Given the description of an element on the screen output the (x, y) to click on. 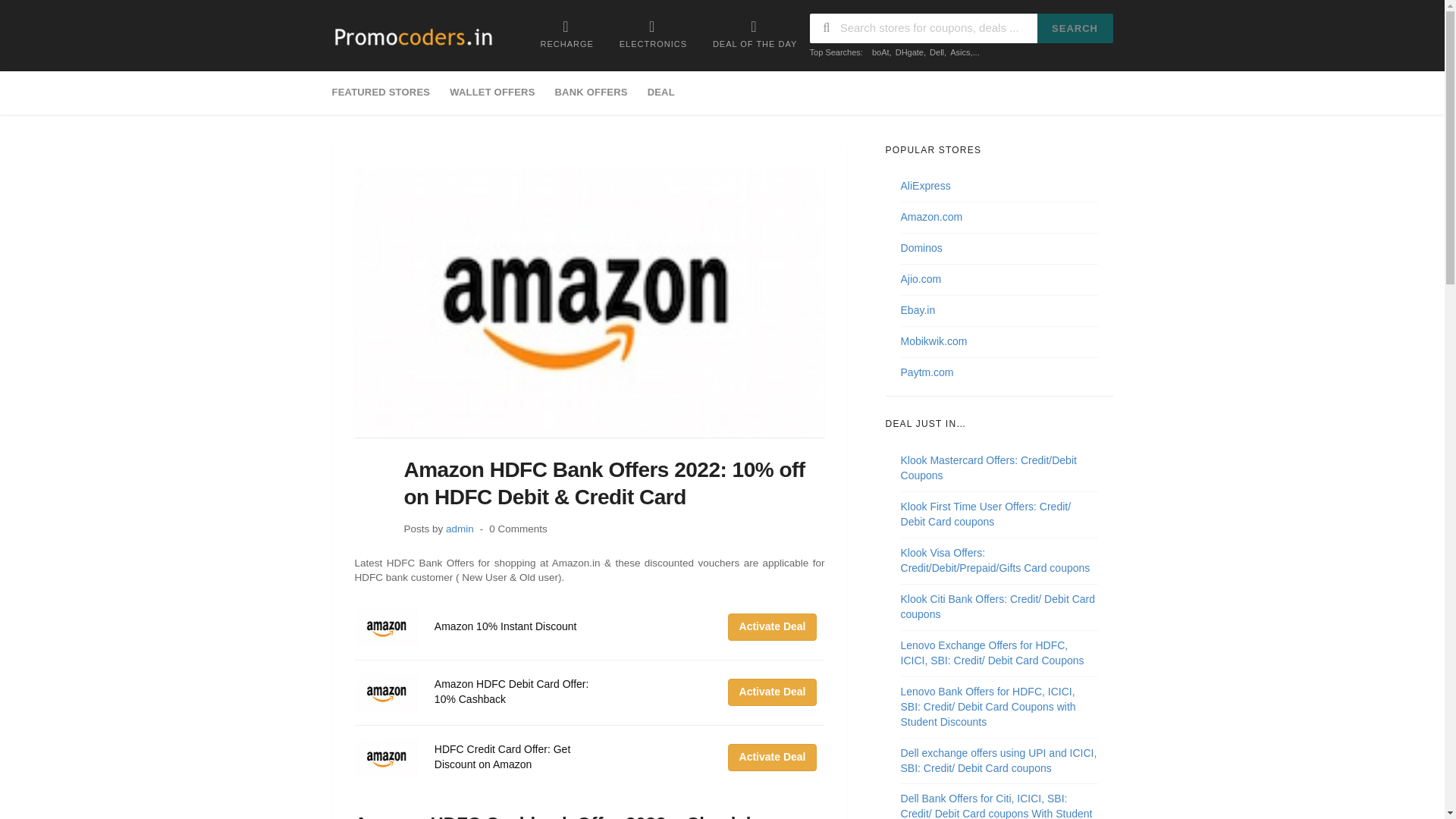
DEAL OF THE DAY (754, 33)
FEATURED STORES (386, 92)
admin (459, 528)
ELECTRONICS (653, 33)
Dell (936, 51)
Activate Deal (772, 626)
Asics (959, 51)
DHgate (909, 51)
RECHARGE (566, 33)
WALLET OFFERS (491, 92)
boAt (880, 51)
SEARCH (1074, 28)
Posts by admin (459, 528)
Promo Code (413, 37)
Activate Deal (772, 691)
